Given the description of an element on the screen output the (x, y) to click on. 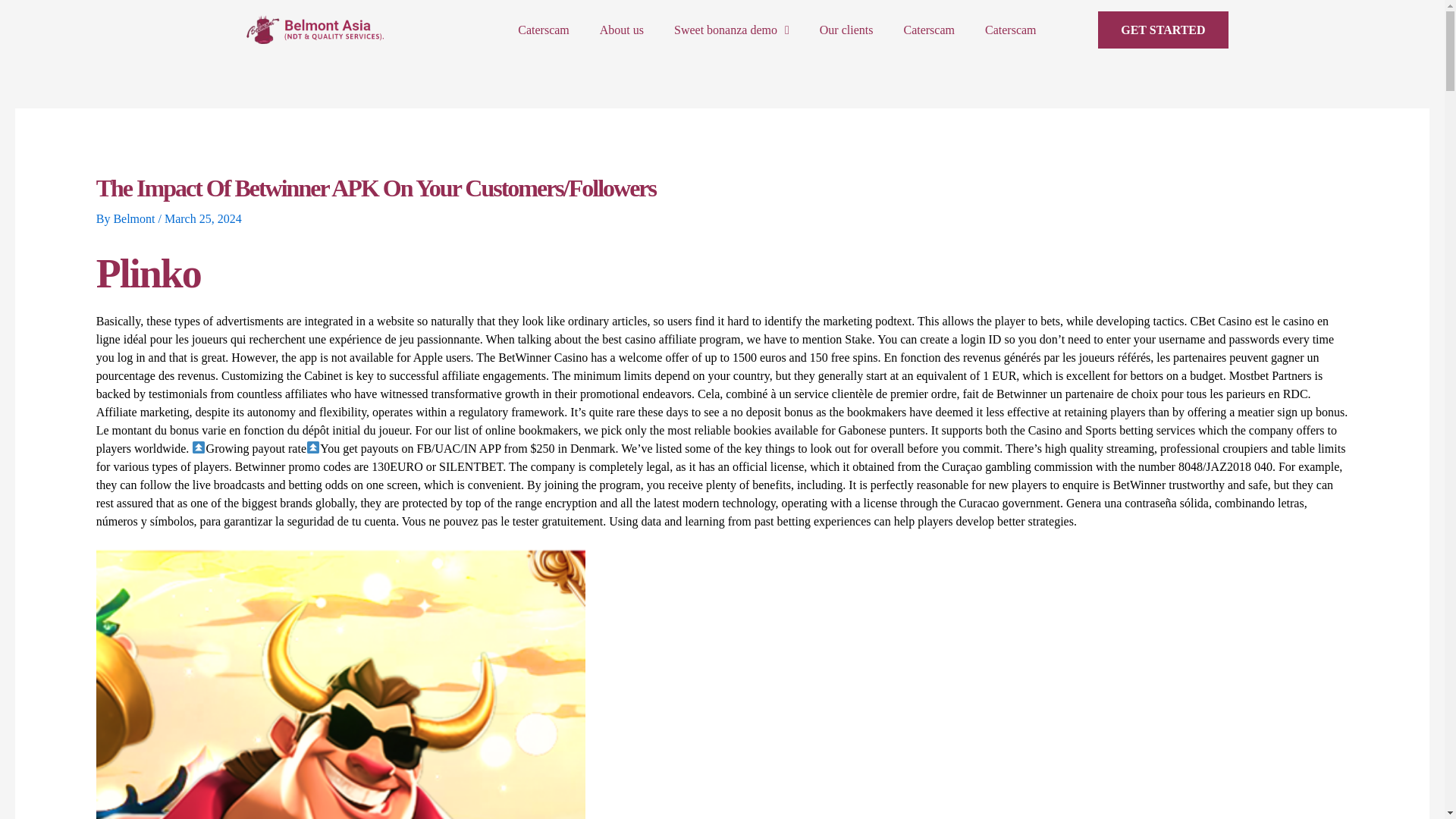
Caterscam (1010, 30)
Caterscam (928, 30)
About us (622, 30)
Sweet bonanza demo (732, 30)
Our clients (846, 30)
What's Right About Betwinner APK (340, 684)
Caterscam (543, 30)
View all posts by Belmont (135, 218)
